Given the description of an element on the screen output the (x, y) to click on. 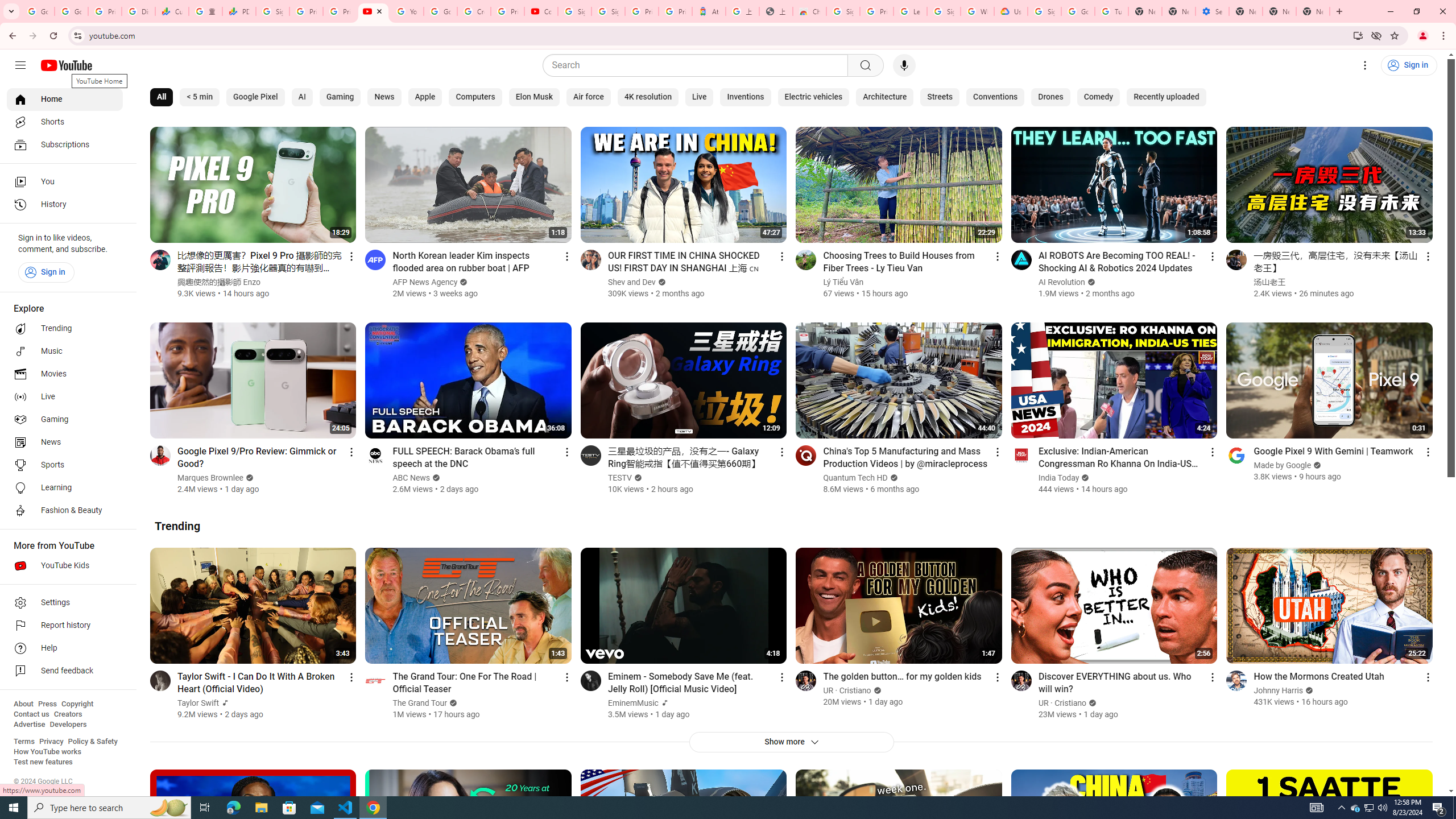
Subscriptions (64, 144)
Streets (939, 97)
Drones (1050, 97)
India Today (1059, 477)
< 5 min (199, 97)
The Grand Tour (420, 702)
Guide (20, 65)
New Tab (1246, 11)
Google Account Help (1077, 11)
Privacy Checkup (339, 11)
